Given the description of an element on the screen output the (x, y) to click on. 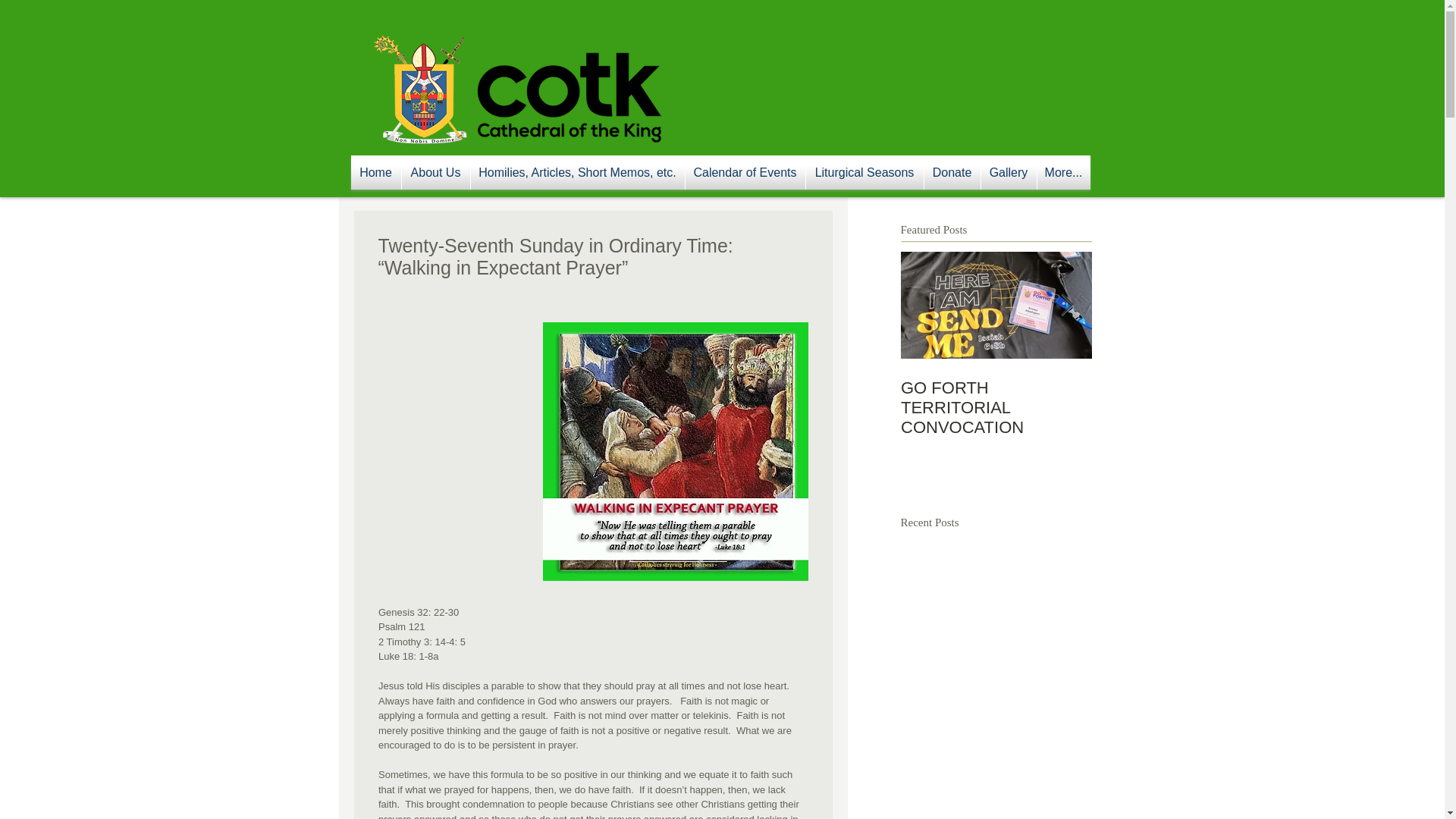
Homilies, Articles, Short Memos, etc. (577, 172)
Calendar of Events (745, 172)
Donate (951, 172)
Home (375, 172)
GROWING IN FAITH (1187, 388)
About Us (435, 172)
GO FORTH TERRITORIAL CONVOCATION (996, 407)
